Given the description of an element on the screen output the (x, y) to click on. 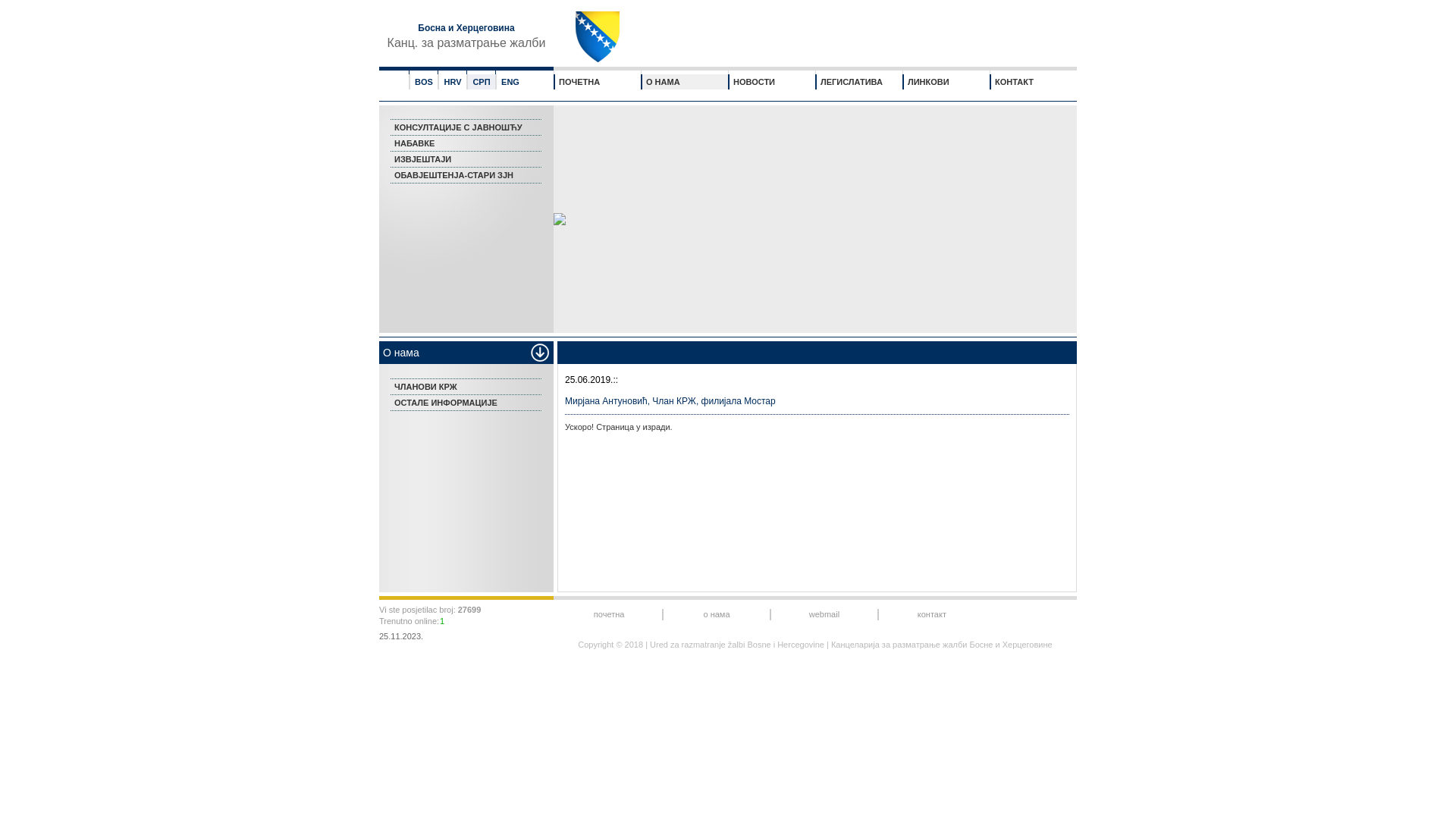
BOS Element type: text (423, 81)
ENG Element type: text (510, 81)
HRV Element type: text (452, 81)
webmail Element type: text (824, 613)
